Given the description of an element on the screen output the (x, y) to click on. 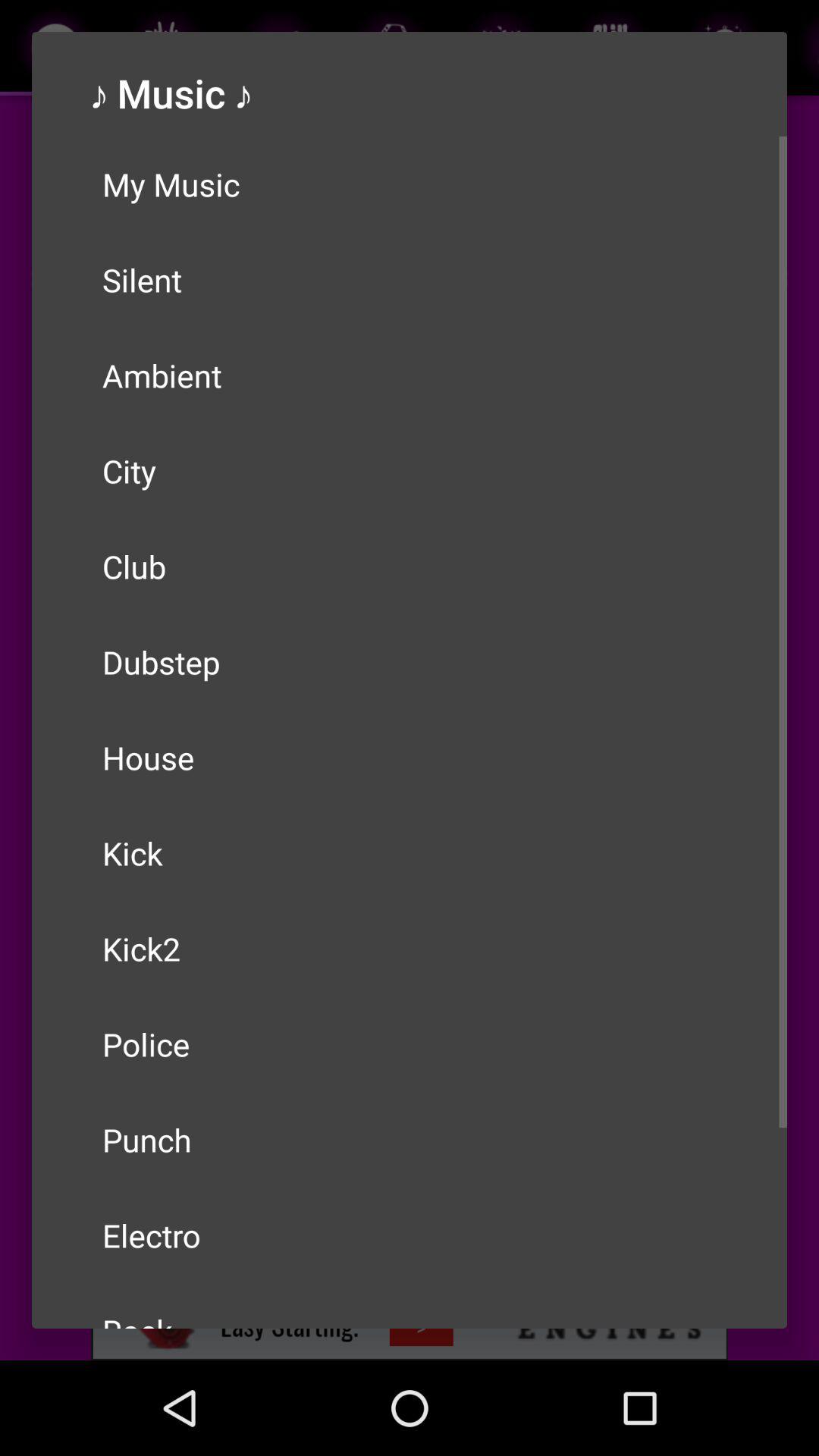
launch icon above 		city (409, 375)
